Given the description of an element on the screen output the (x, y) to click on. 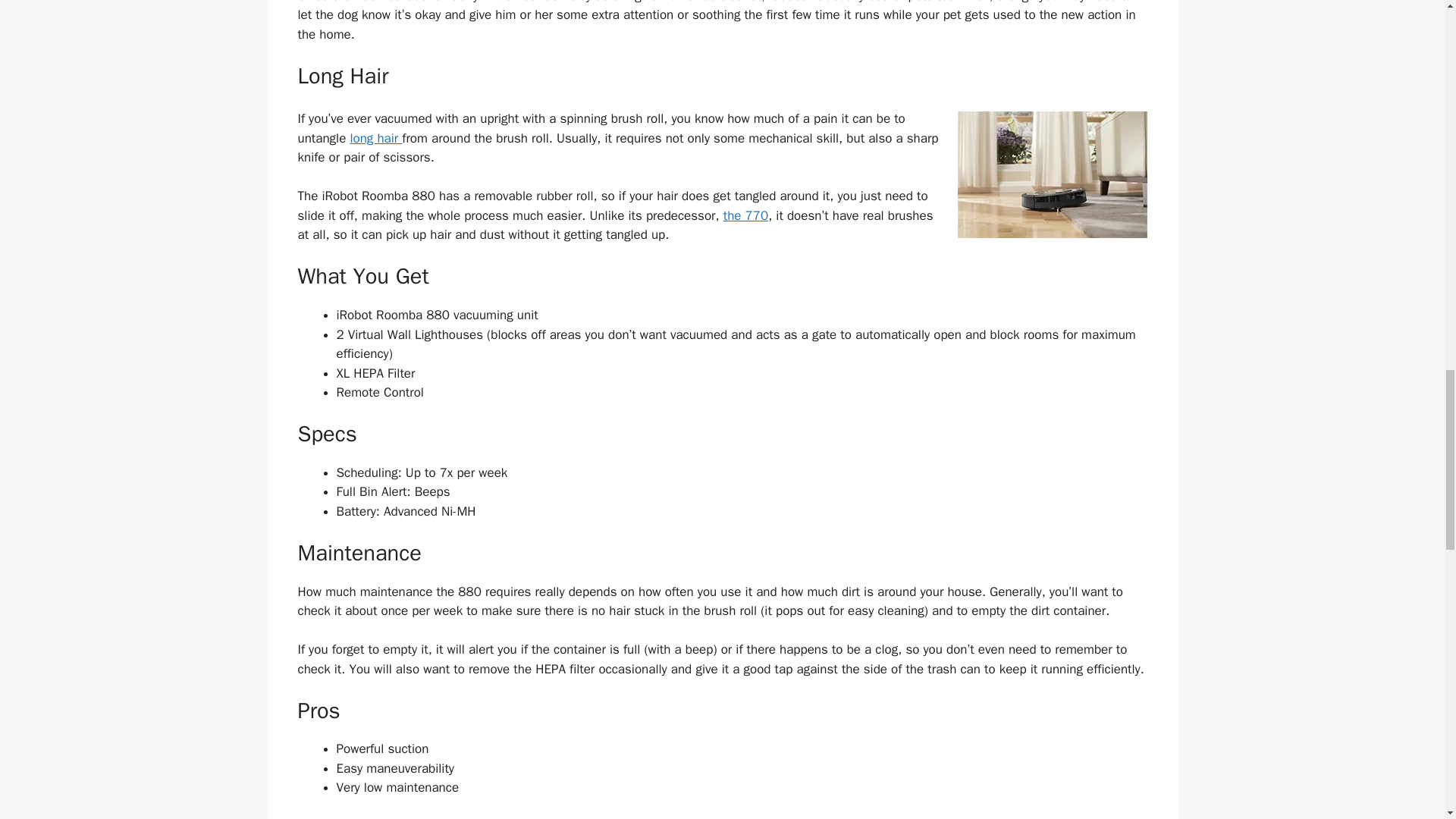
the 770 (745, 215)
long hair (375, 138)
